Given the description of an element on the screen output the (x, y) to click on. 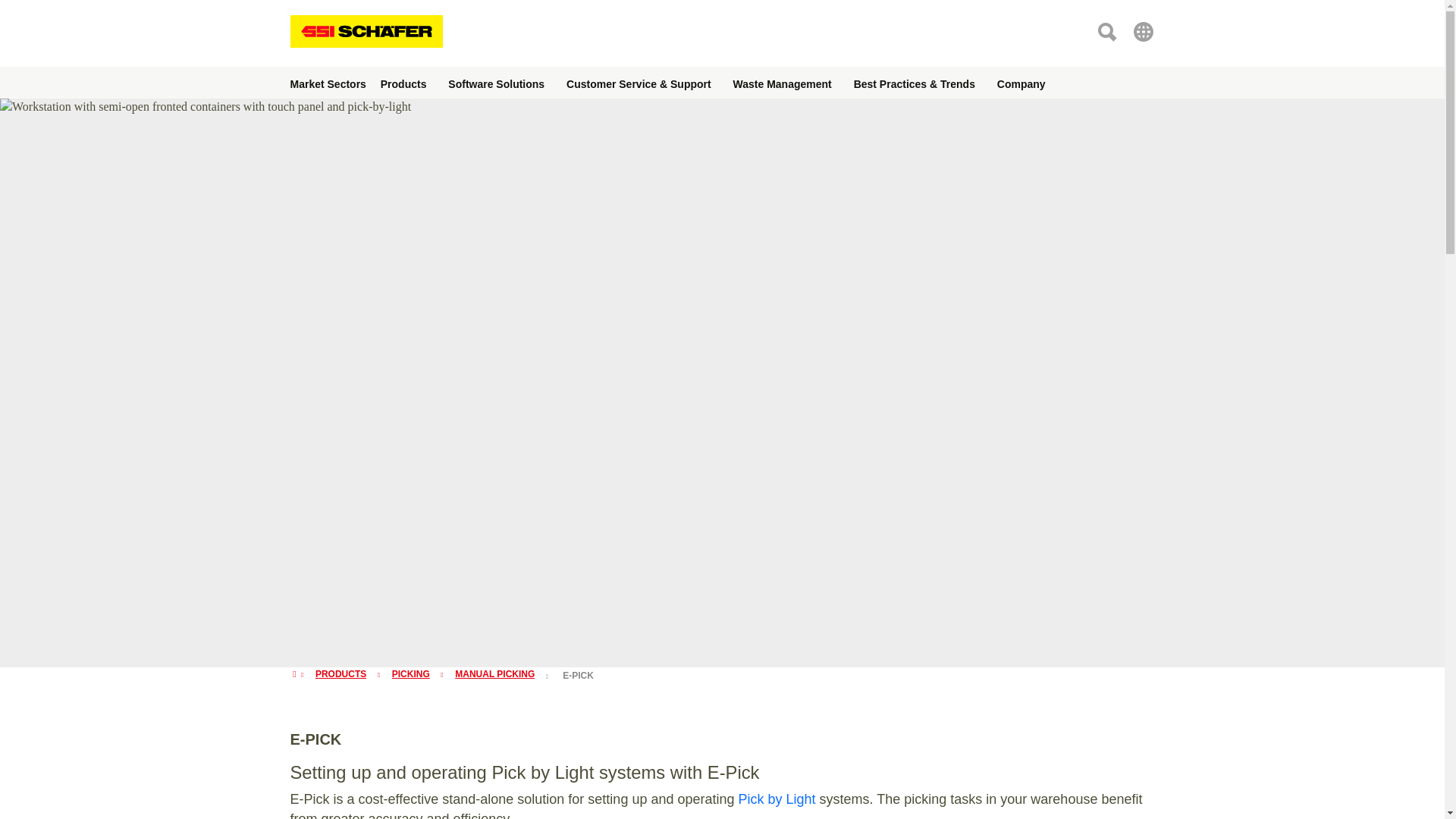
Market Sectors (327, 82)
Toggle Search (1106, 30)
Products (403, 82)
